Given the description of an element on the screen output the (x, y) to click on. 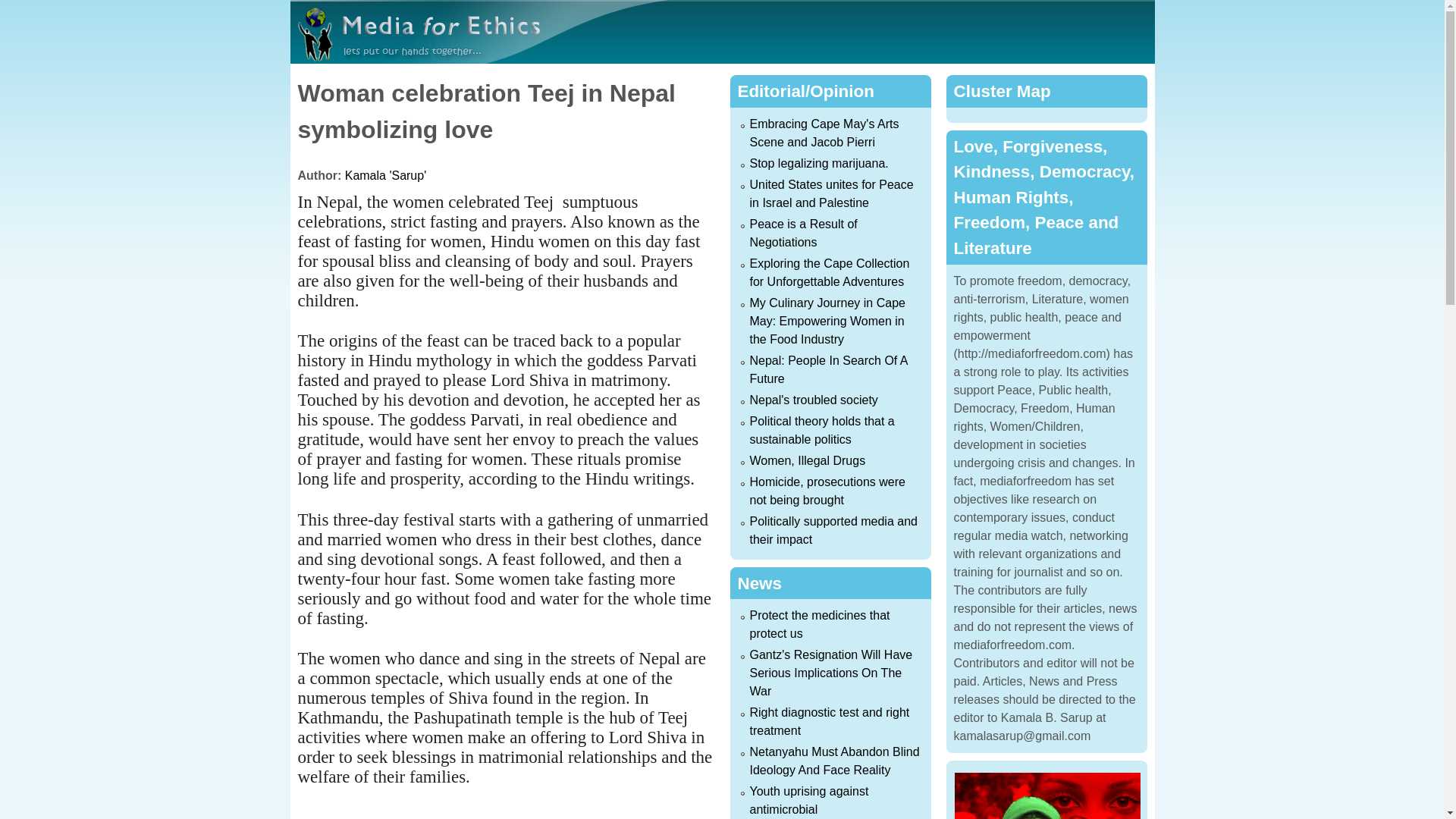
United States unites for Peace in Israel and Palestine (830, 193)
Political theory holds that a sustainable politics (821, 429)
Kamala 'Sarup' (385, 174)
Exploring the Cape Collection for Unforgettable Adventures (828, 272)
Embracing Cape May's Arts Scene and Jacob Pierri (823, 132)
Nepal: People In Search Of A Future (828, 368)
Stop legalizing marijuana. (818, 163)
Politically supported media and their impact (833, 530)
